Given the description of an element on the screen output the (x, y) to click on. 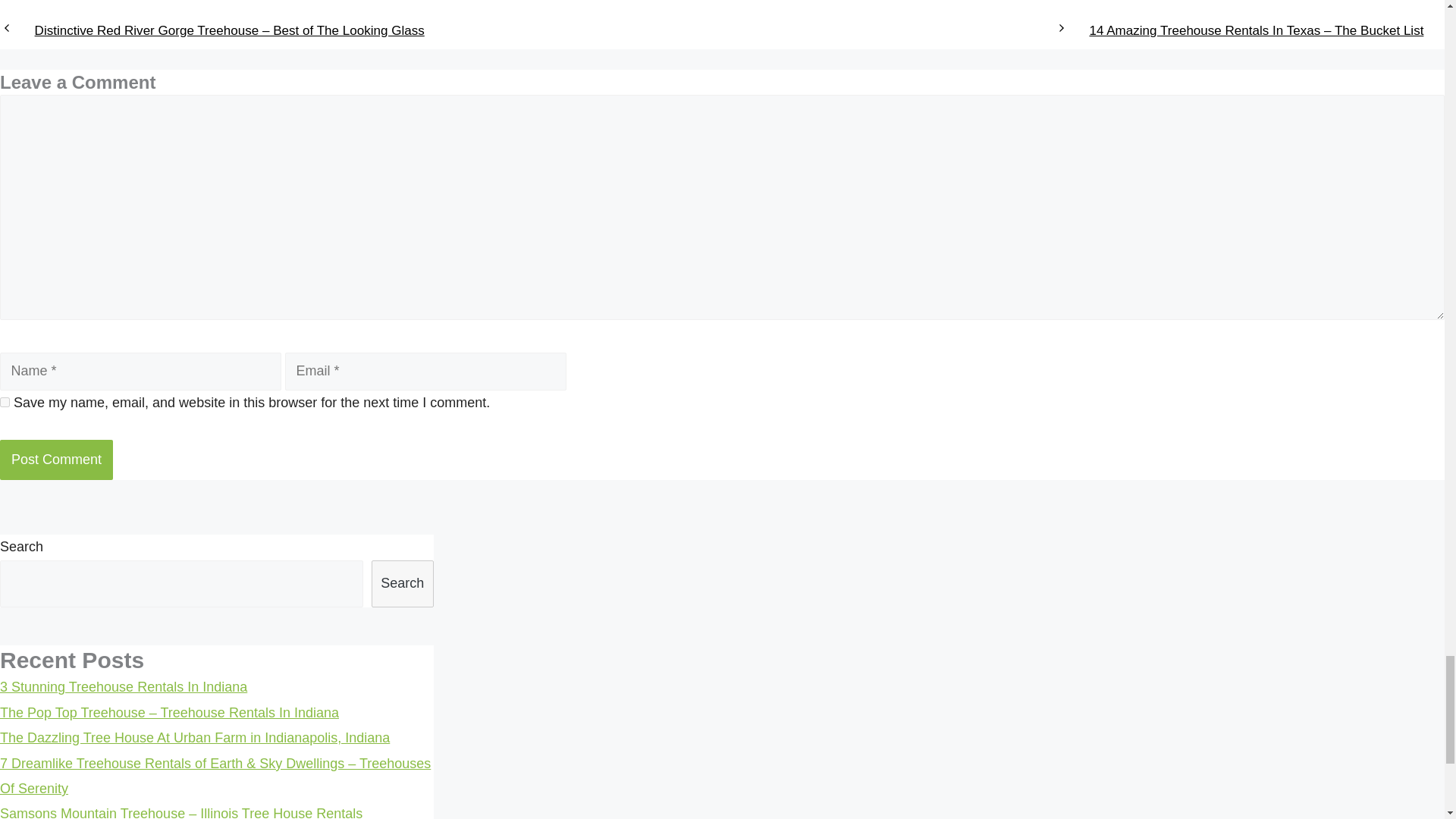
Post Comment (56, 459)
yes (5, 402)
Search (402, 583)
Post Comment (56, 459)
3 Stunning Treehouse Rentals In Indiana (123, 686)
